Given the description of an element on the screen output the (x, y) to click on. 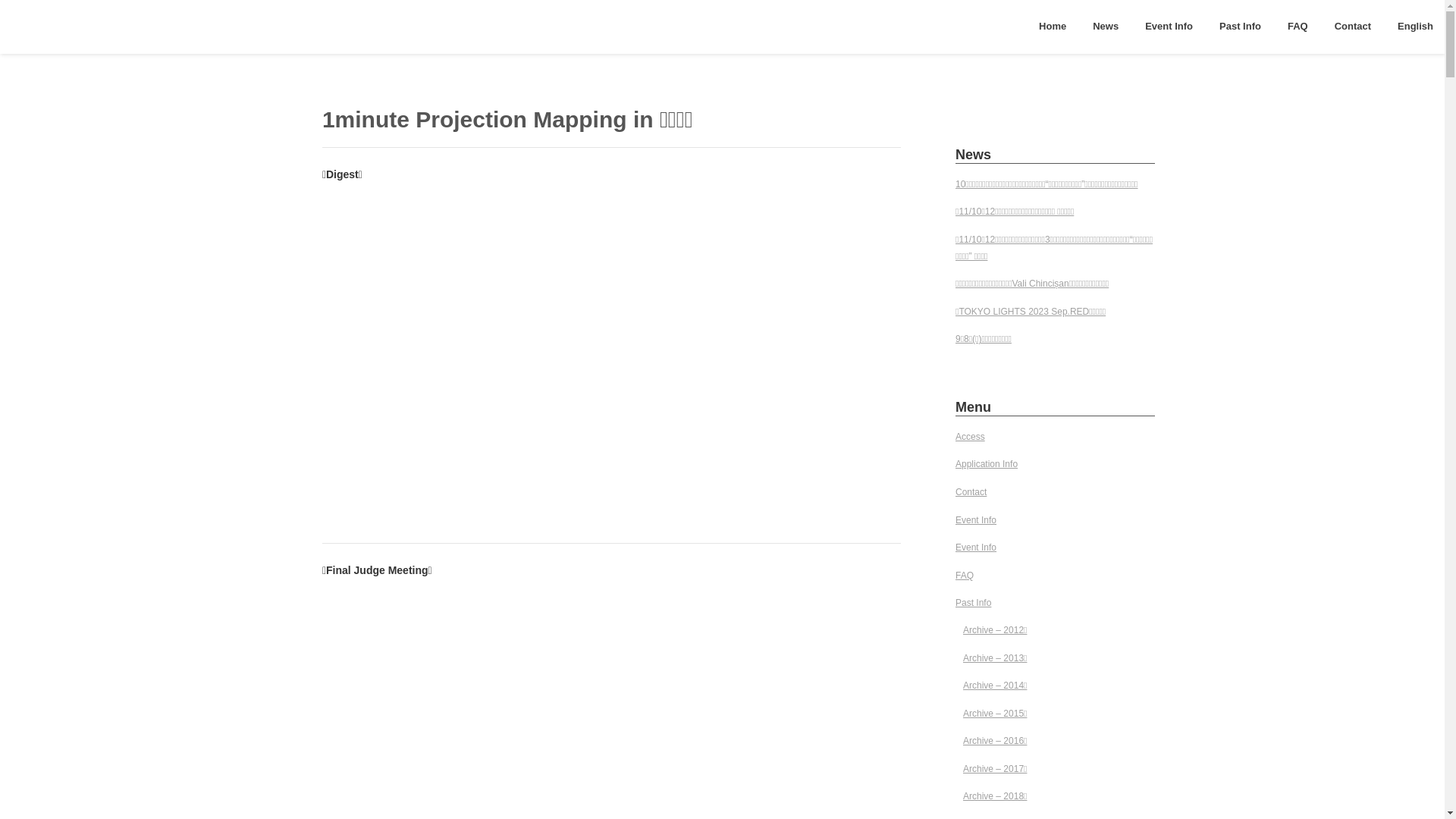
Event Info Element type: text (975, 520)
Home Element type: text (1052, 26)
Contact Element type: text (970, 492)
Event Info Element type: text (975, 547)
Access Element type: text (970, 437)
English Element type: text (1415, 26)
FAQ Element type: text (1297, 26)
Event Info Element type: text (1168, 26)
Past Info Element type: text (973, 603)
FAQ Element type: text (964, 575)
News Element type: text (1105, 26)
Past Info Element type: text (1240, 26)
Application Info Element type: text (986, 464)
Contact Element type: text (1352, 26)
